Given the description of an element on the screen output the (x, y) to click on. 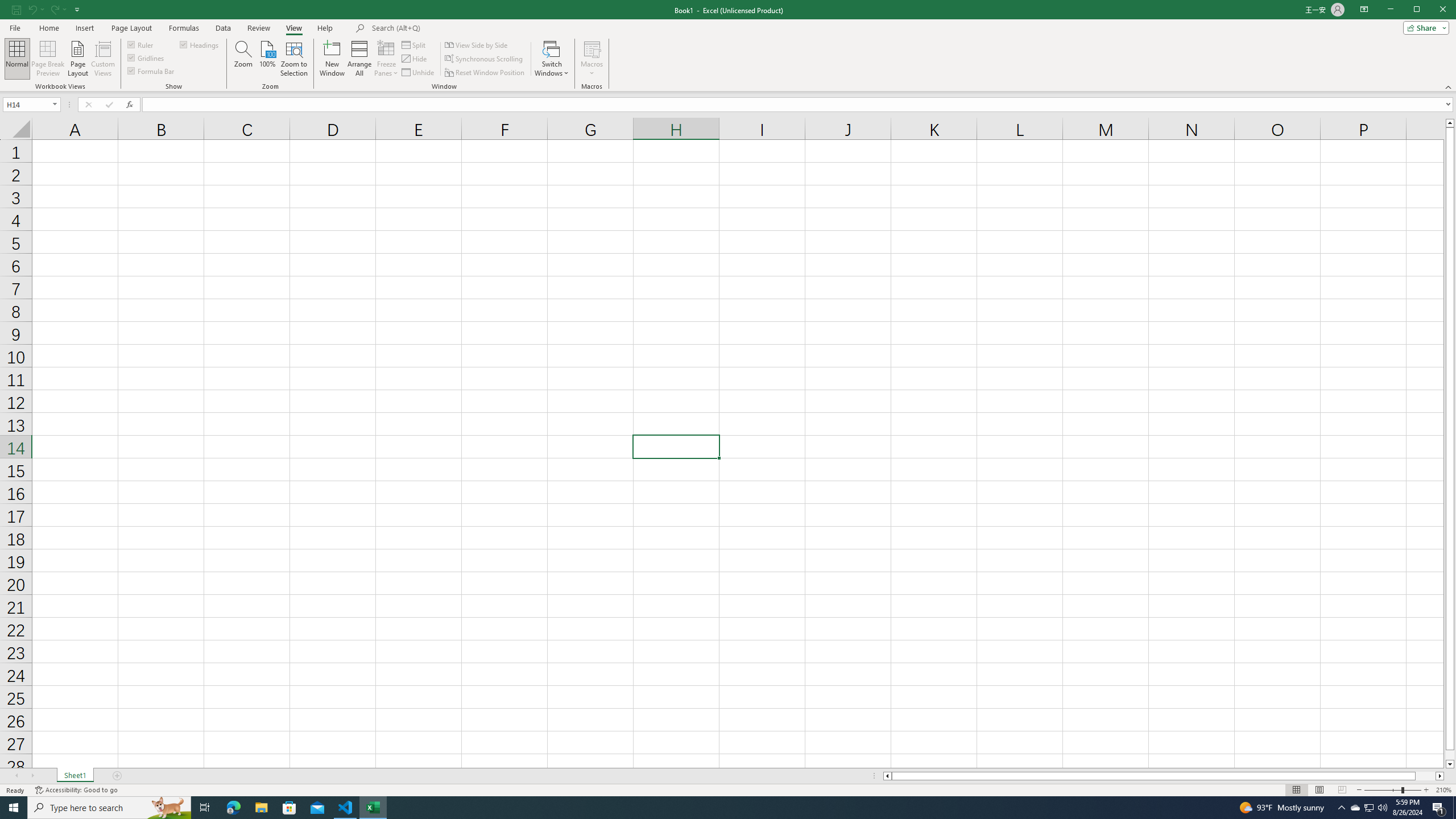
Hide (415, 58)
Split (414, 44)
Arrange All (359, 58)
